Given the description of an element on the screen output the (x, y) to click on. 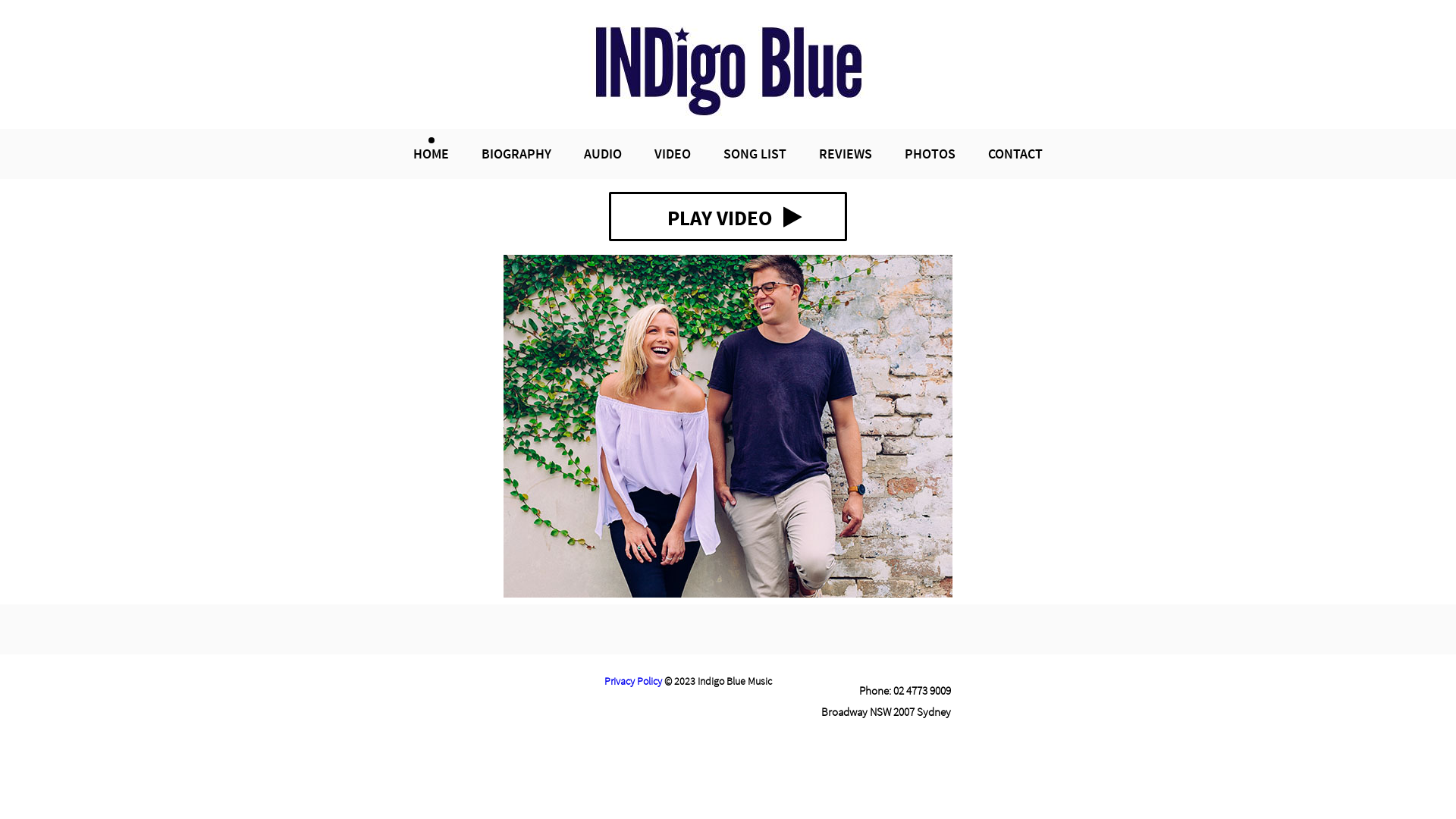
VIDEO Element type: text (672, 153)
Privacy Policy Element type: text (633, 680)
PHOTOS Element type: text (929, 153)
HOME Element type: text (430, 153)
CONTACT Element type: text (1015, 153)
PLAY VIDEO Element type: text (727, 216)
SONG LIST Element type: text (754, 153)
BIOGRAPHY Element type: text (516, 153)
REVIEWS Element type: text (845, 153)
AUDIO Element type: text (602, 153)
